Given the description of an element on the screen output the (x, y) to click on. 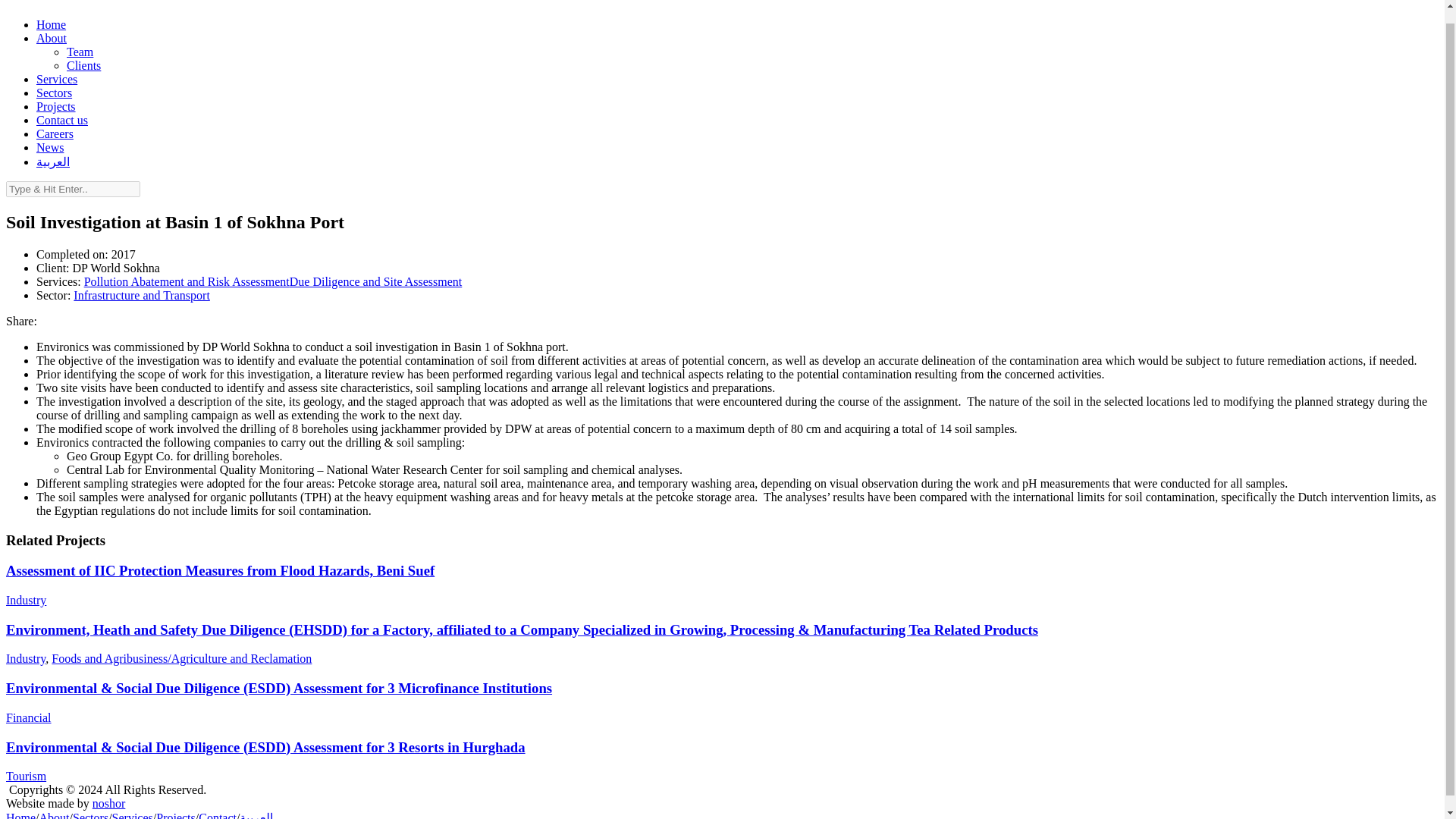
Enter search text (72, 188)
Tourism (25, 775)
Industry (25, 599)
Pollution Abatement and Risk Assessment (186, 281)
noshor (109, 802)
Financial (27, 717)
Infrastructure and Transport (141, 295)
Due Diligence and Site Assessment (376, 281)
Industry (25, 658)
